Given the description of an element on the screen output the (x, y) to click on. 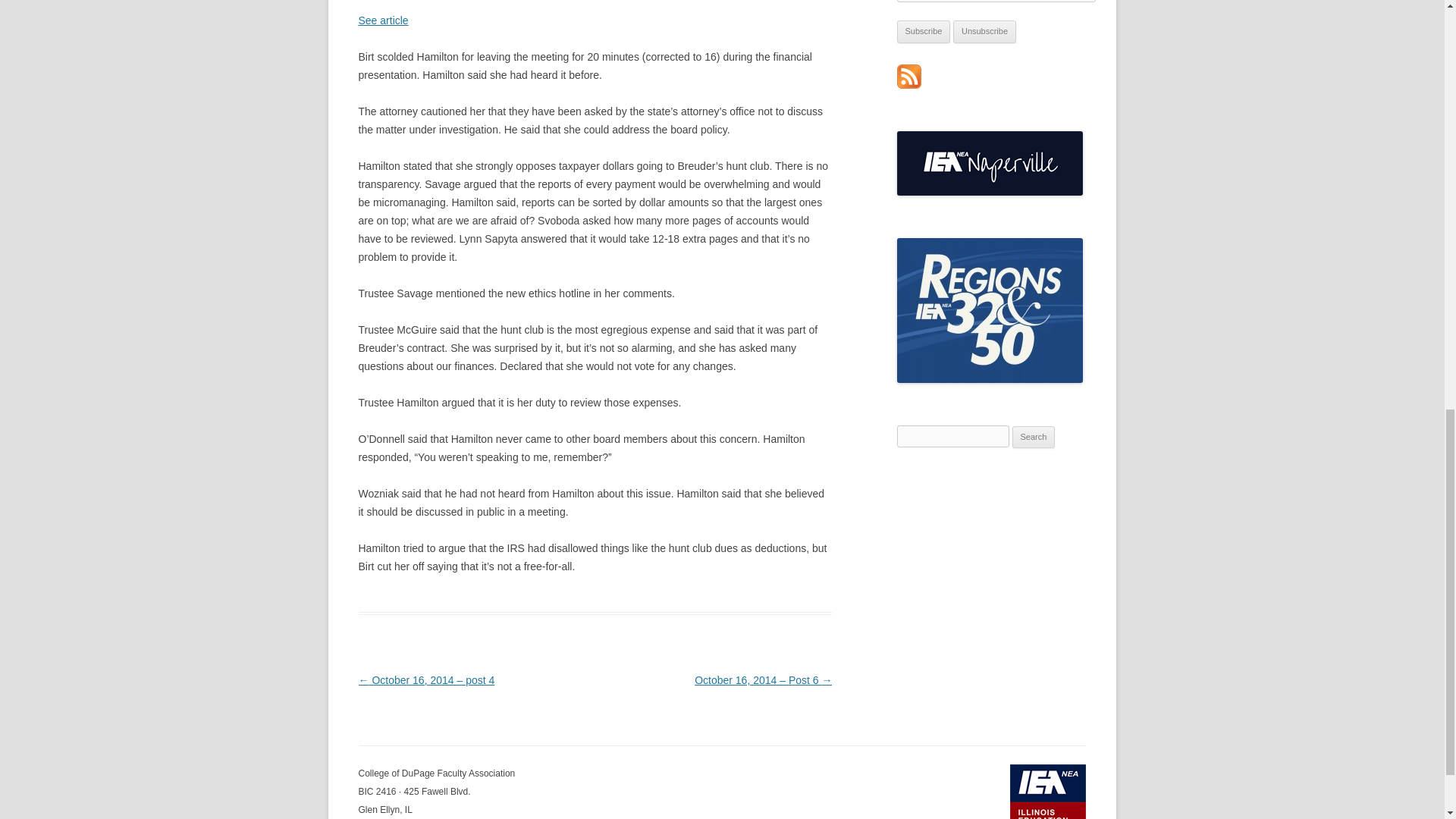
See article (382, 20)
Subscribe (923, 31)
Unsubscribe (984, 31)
Unsubscribe (984, 31)
Subscribe (923, 31)
Search (1033, 436)
Enter email address... (996, 1)
Search (1033, 436)
